Given the description of an element on the screen output the (x, y) to click on. 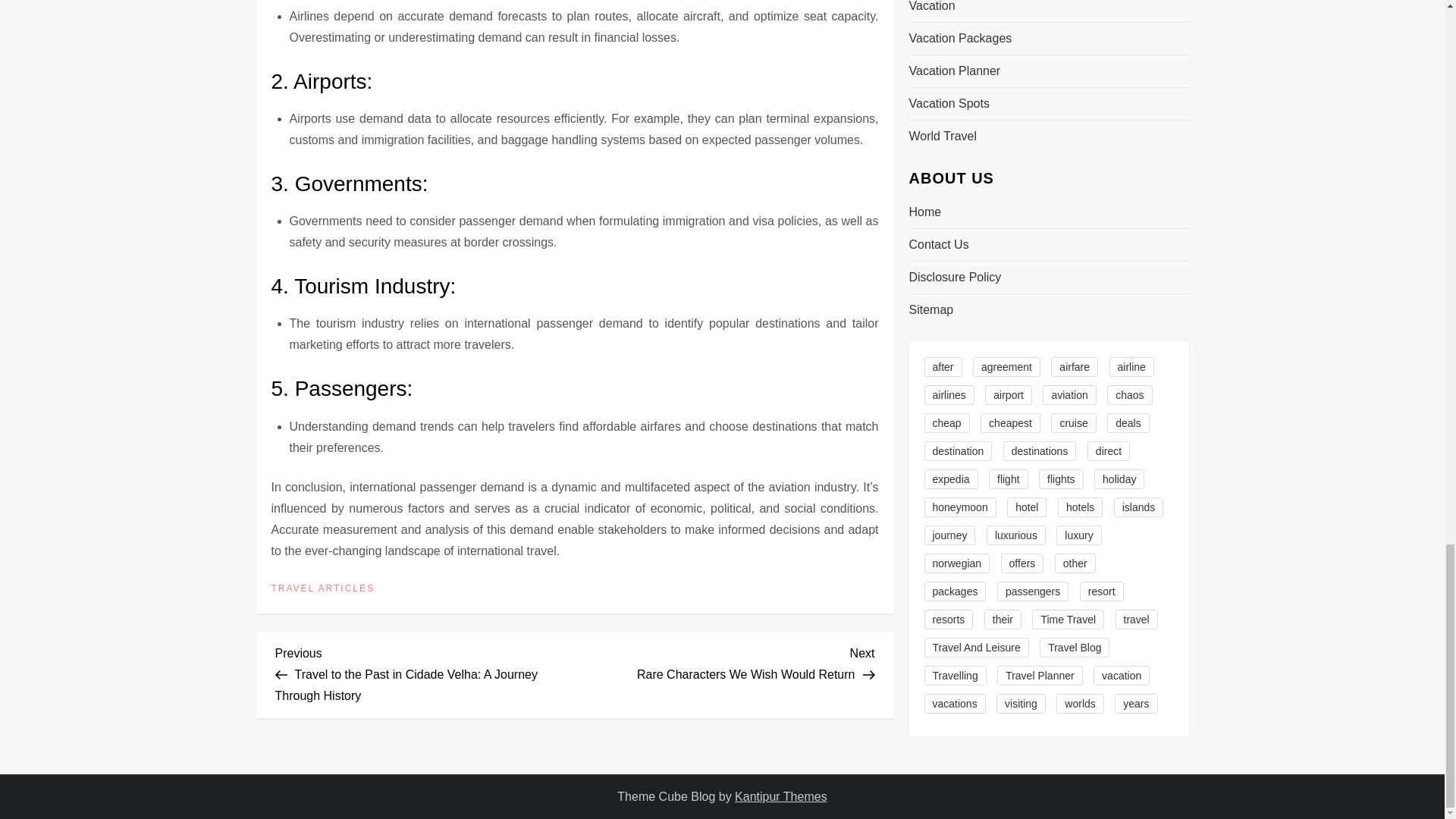
TRAVEL ARTICLES (322, 589)
